Given the description of an element on the screen output the (x, y) to click on. 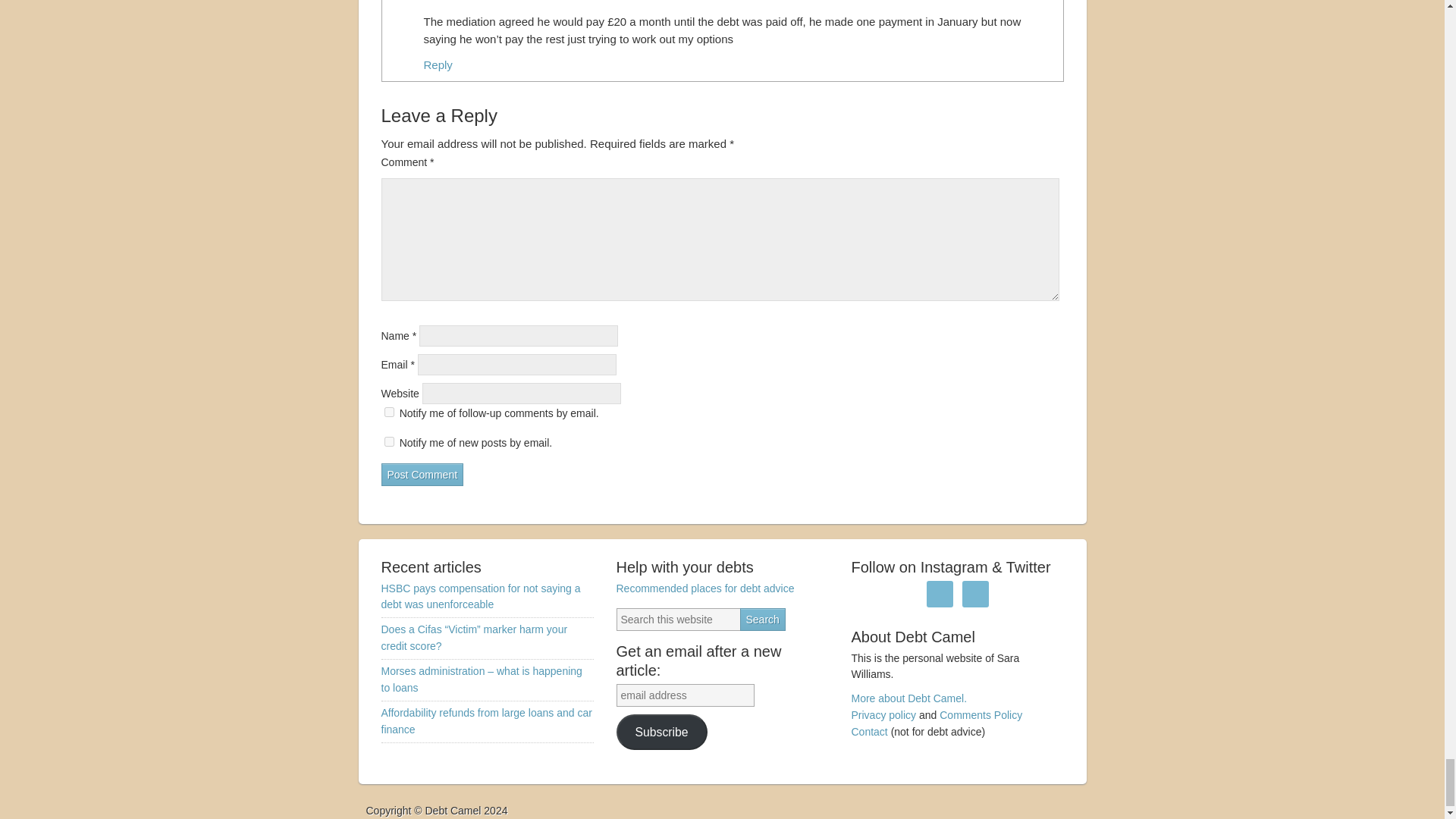
subscribe (388, 411)
Search (762, 619)
Post Comment (421, 474)
subscribe (388, 441)
Search (762, 619)
